Given the description of an element on the screen output the (x, y) to click on. 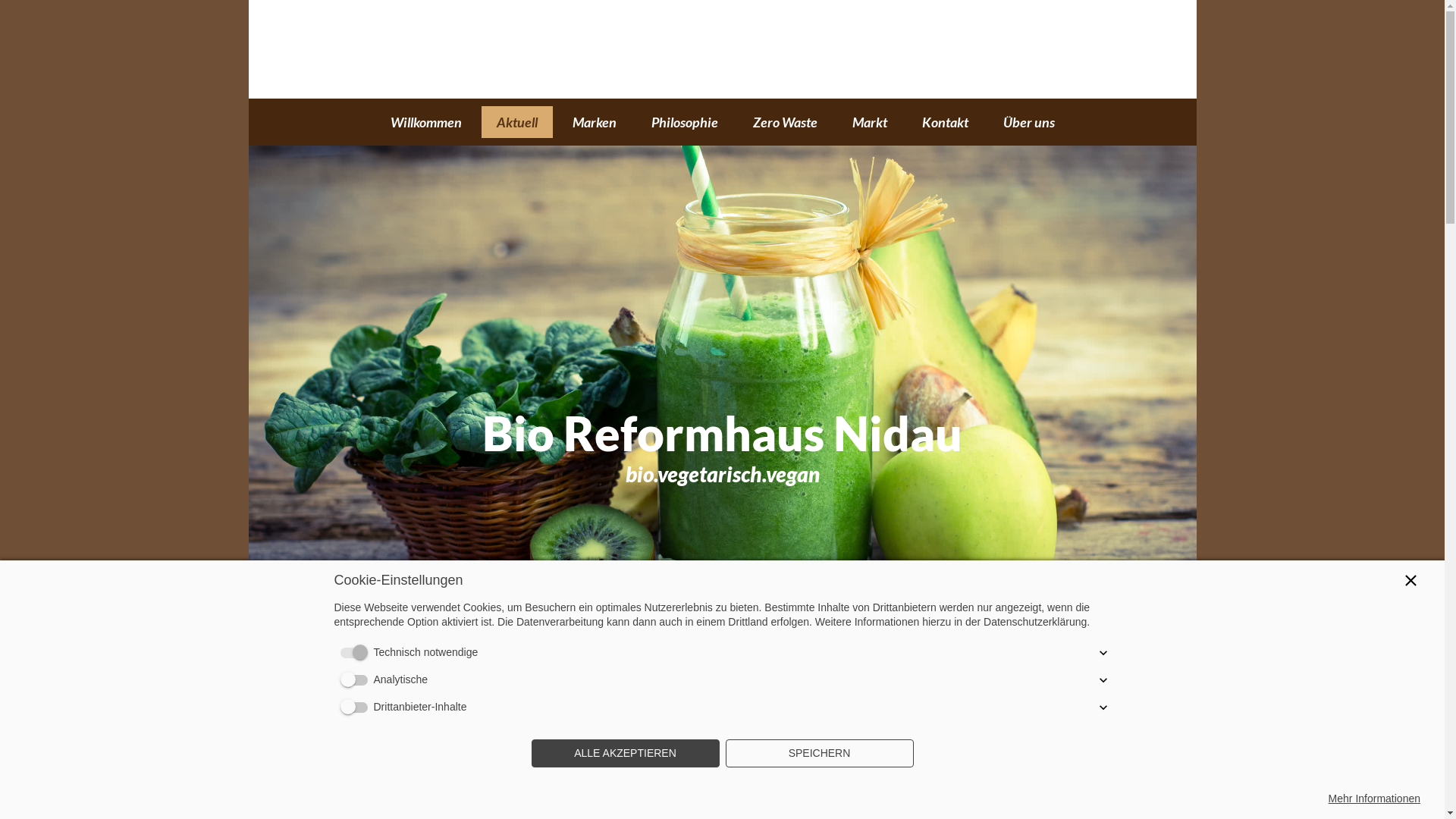
Mehr Informationen Element type: text (1374, 798)
Philosophie Element type: text (683, 122)
Willkommen Element type: text (425, 122)
SPEICHERN Element type: text (818, 753)
Aktuell Element type: text (516, 122)
Kontakt Element type: text (944, 122)
Markt Element type: text (869, 122)
Zero Waste Element type: text (784, 122)
Marken Element type: text (593, 122)
ALLE AKZEPTIEREN Element type: text (624, 753)
